Given the description of an element on the screen output the (x, y) to click on. 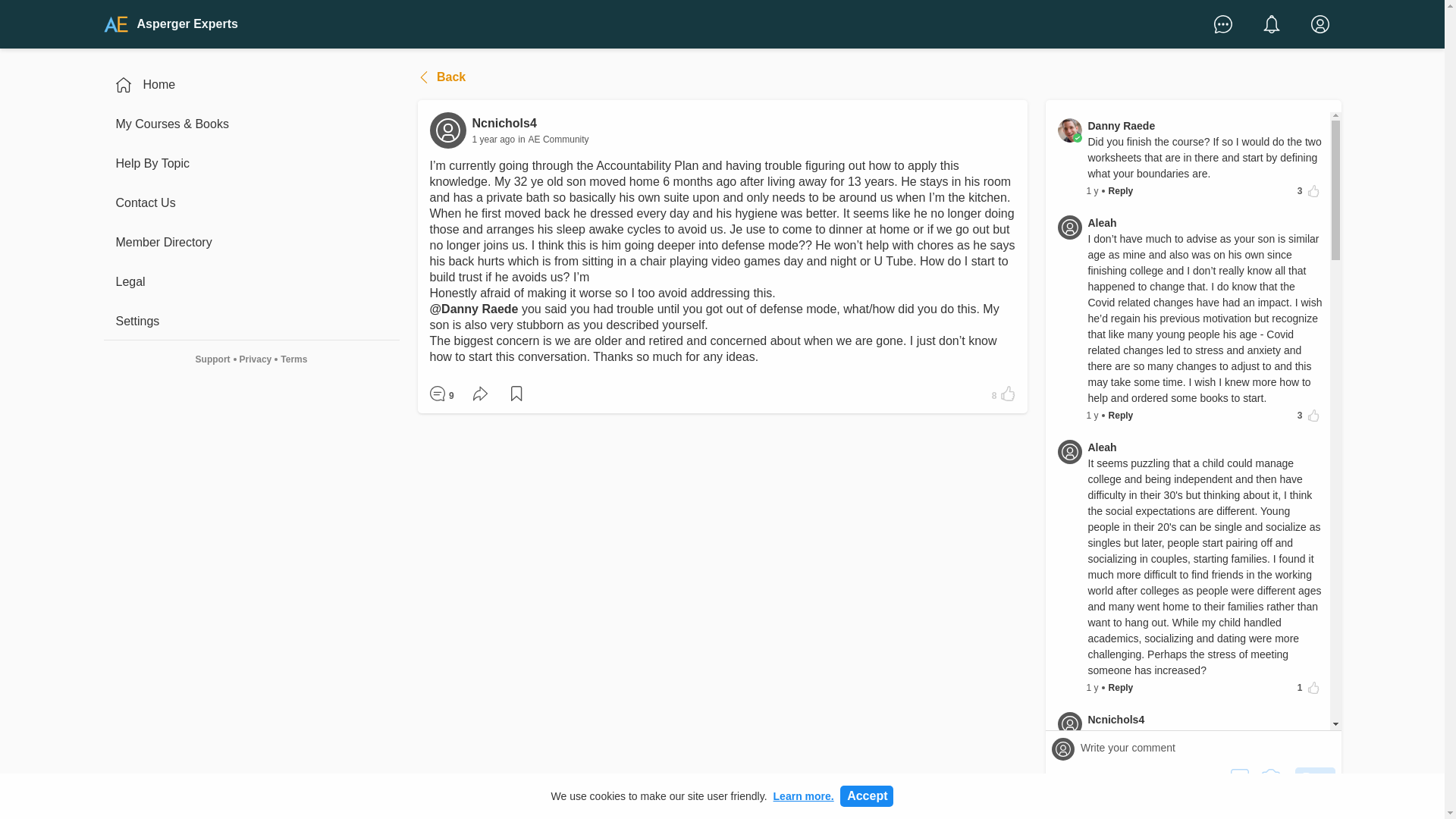
9 (441, 393)
Danny Raede (1069, 129)
Aleah (1187, 222)
Support (212, 359)
Ncnichols4 (1187, 719)
Help By Topic (250, 163)
Home (250, 84)
Contact Us (250, 203)
Member Directory (250, 242)
Privacy (255, 359)
